Given the description of an element on the screen output the (x, y) to click on. 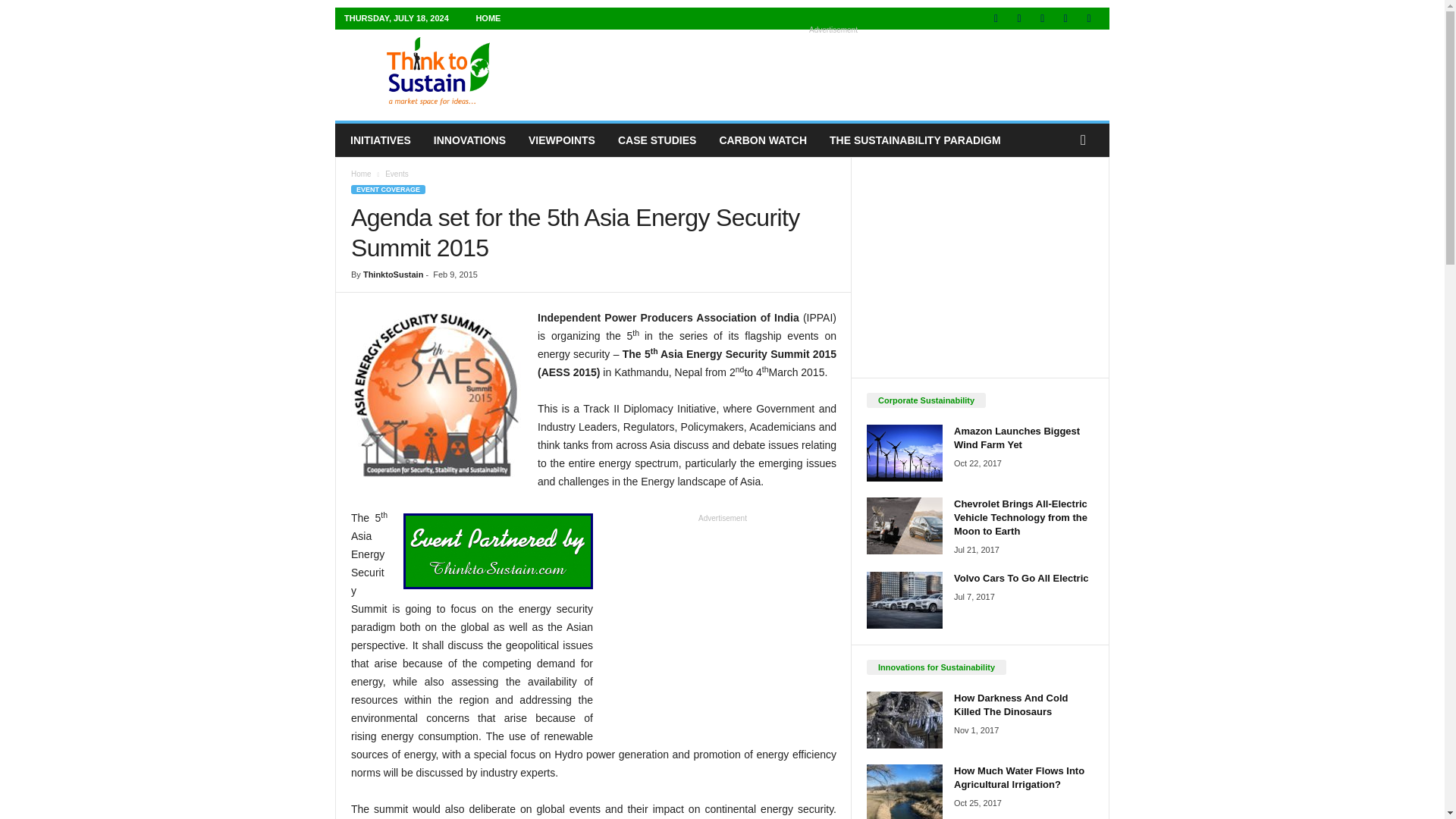
EVENT COVERAGE (387, 189)
Home (488, 17)
Linkedin (1042, 18)
Advertisement (833, 70)
Home (360, 173)
THE SUSTAINABILITY PARADIGM (914, 140)
HOME (488, 17)
ThinktoSustain.com (437, 70)
CASE STUDIES (657, 140)
Advertisement (721, 626)
Twitter (1088, 18)
CARBON WATCH (762, 140)
INITIATIVES (380, 140)
ThinktoSustain (392, 274)
Sustainability News and Analysis Website (438, 70)
